Given the description of an element on the screen output the (x, y) to click on. 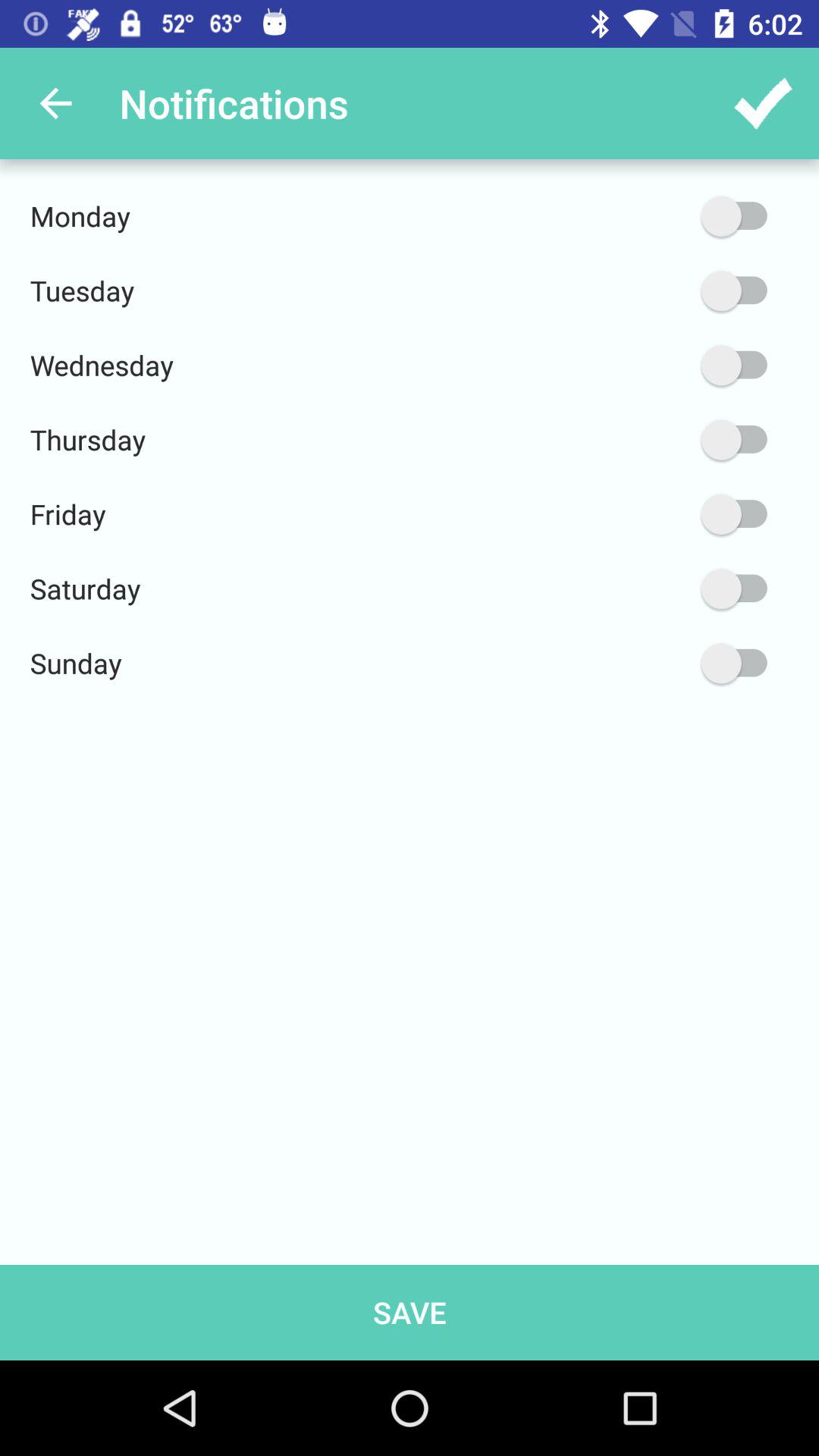
select item next to the thursday (661, 439)
